Given the description of an element on the screen output the (x, y) to click on. 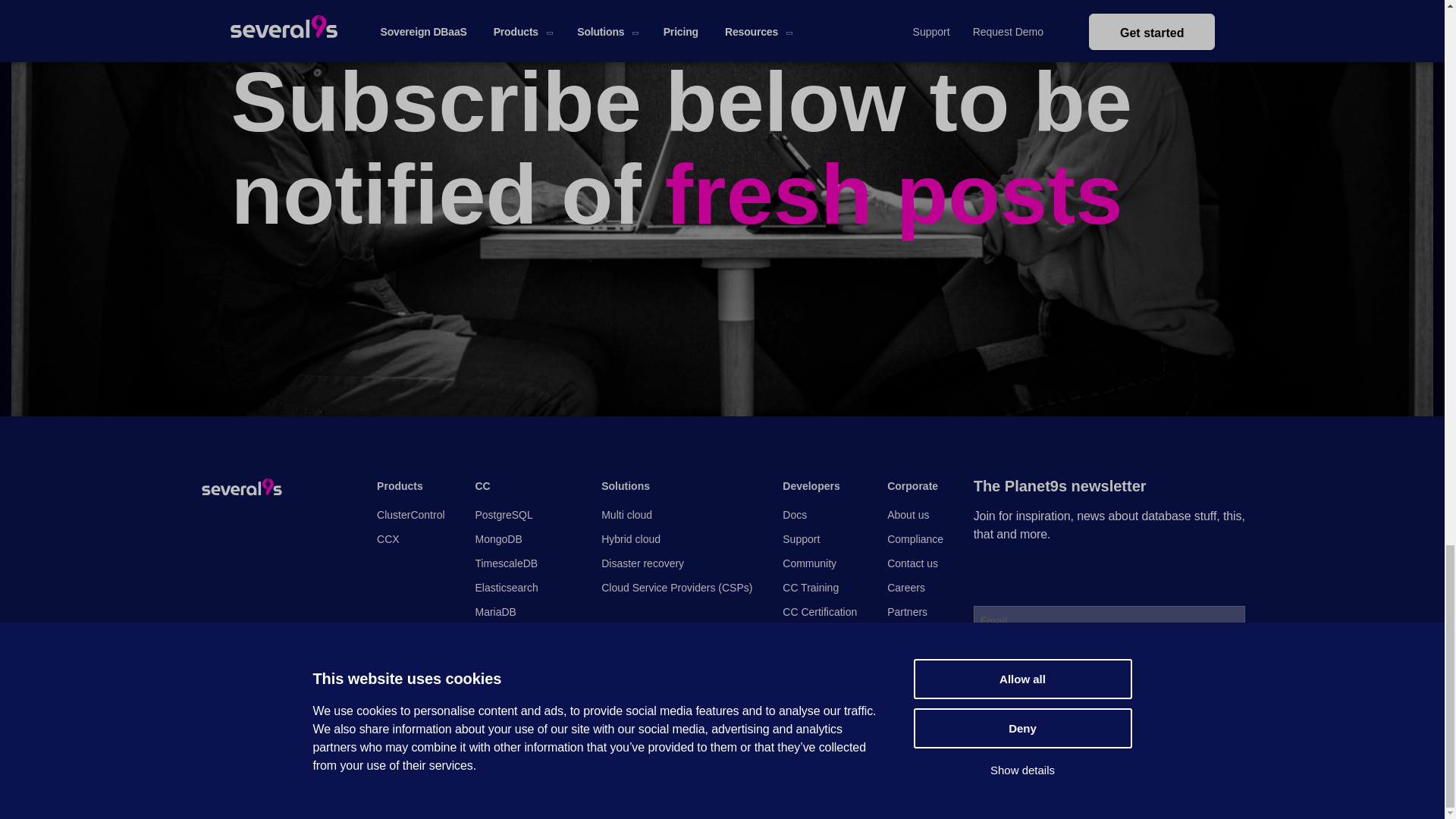
Subscribe (1030, 683)
